Given the description of an element on the screen output the (x, y) to click on. 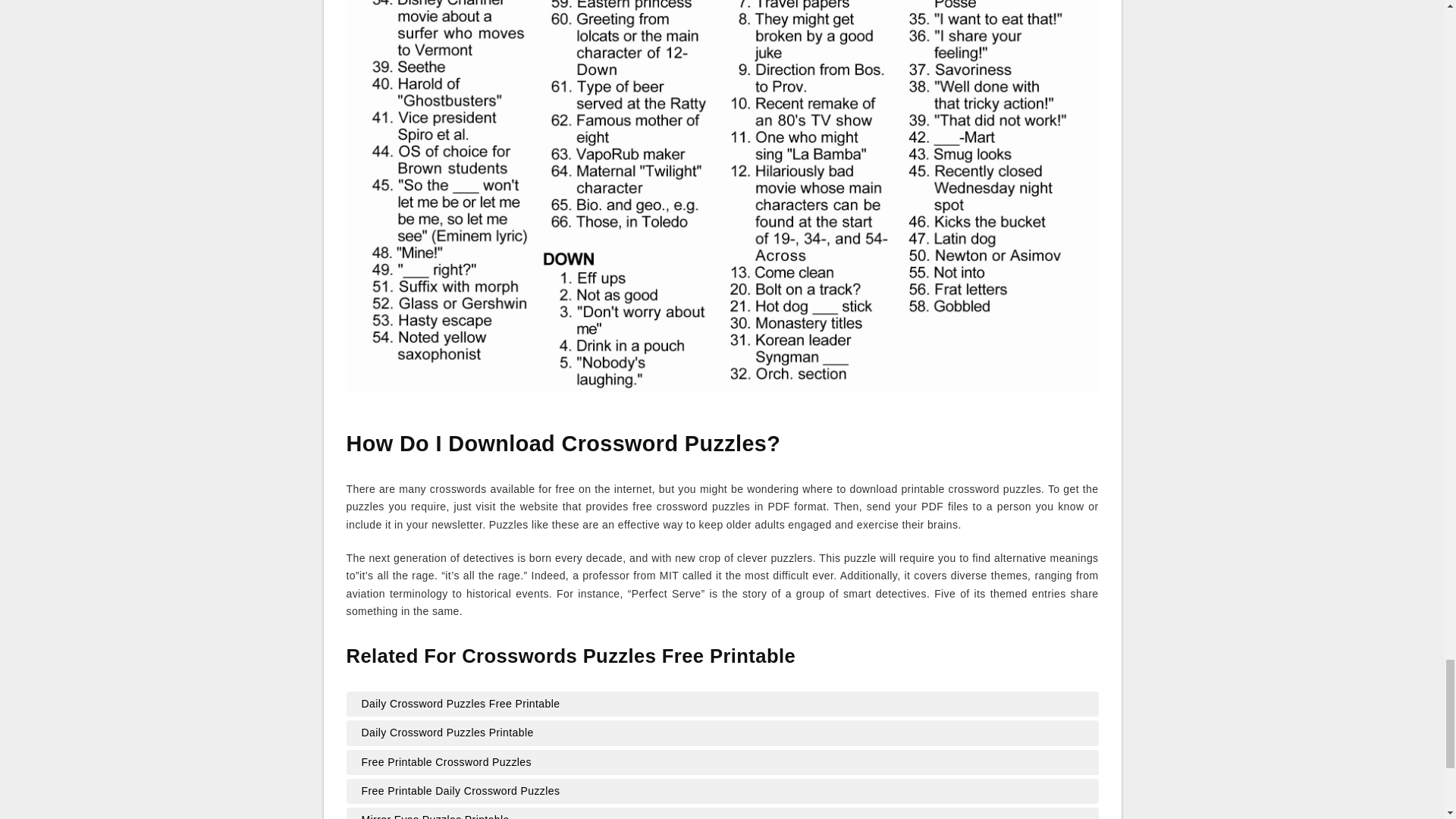
Free Printable Crossword Puzzles (721, 762)
Daily Crossword Puzzles Free Printable (721, 703)
Free Printable Daily Crossword Puzzles (721, 791)
Daily Crossword Puzzles Printable (721, 732)
Mirror Eyes Puzzles Printable (721, 814)
